Given the description of an element on the screen output the (x, y) to click on. 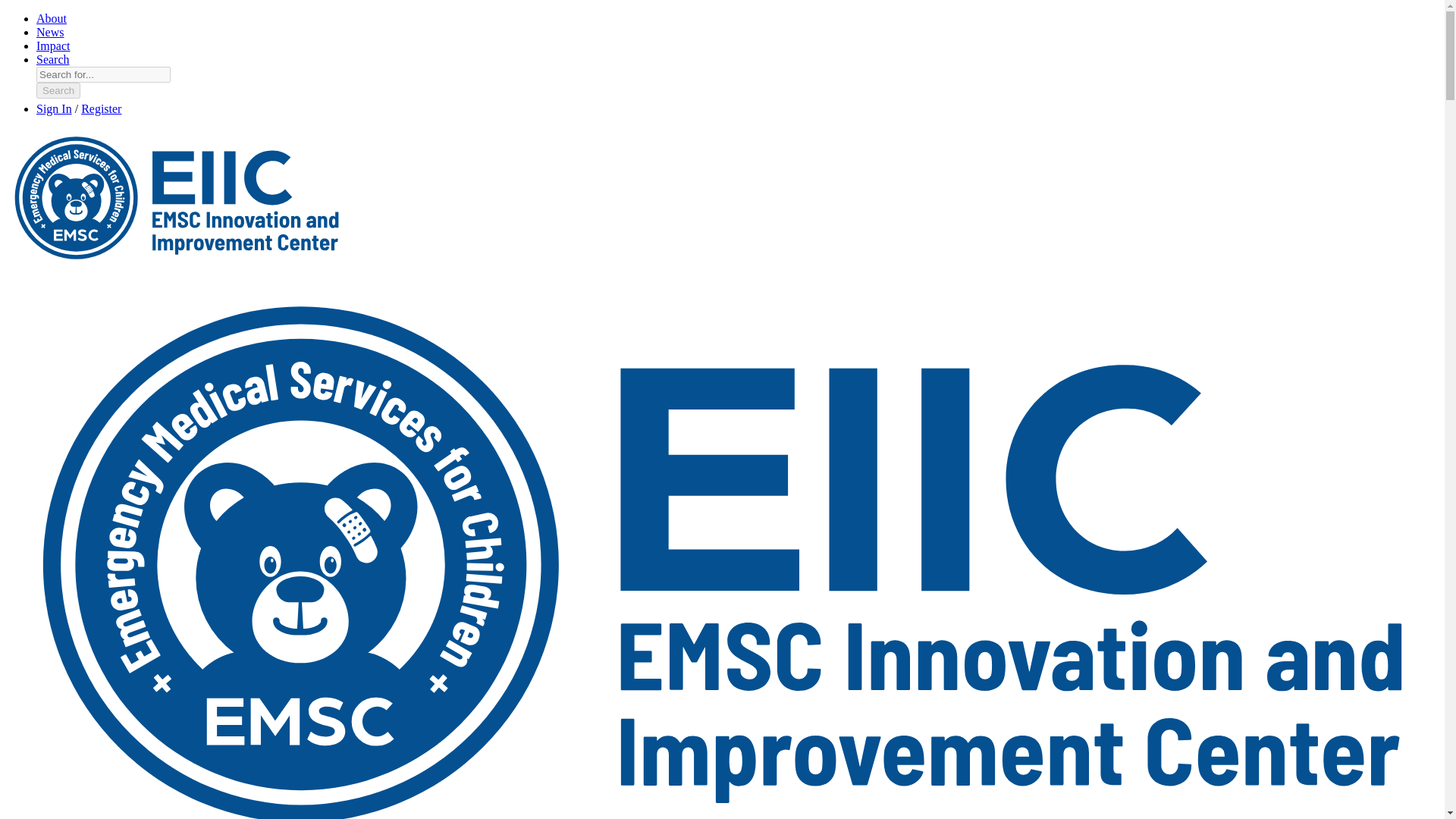
About (51, 18)
Impact (52, 45)
Register (100, 108)
Search (52, 59)
News (50, 31)
Sign In (53, 108)
Search (58, 90)
